Given the description of an element on the screen output the (x, y) to click on. 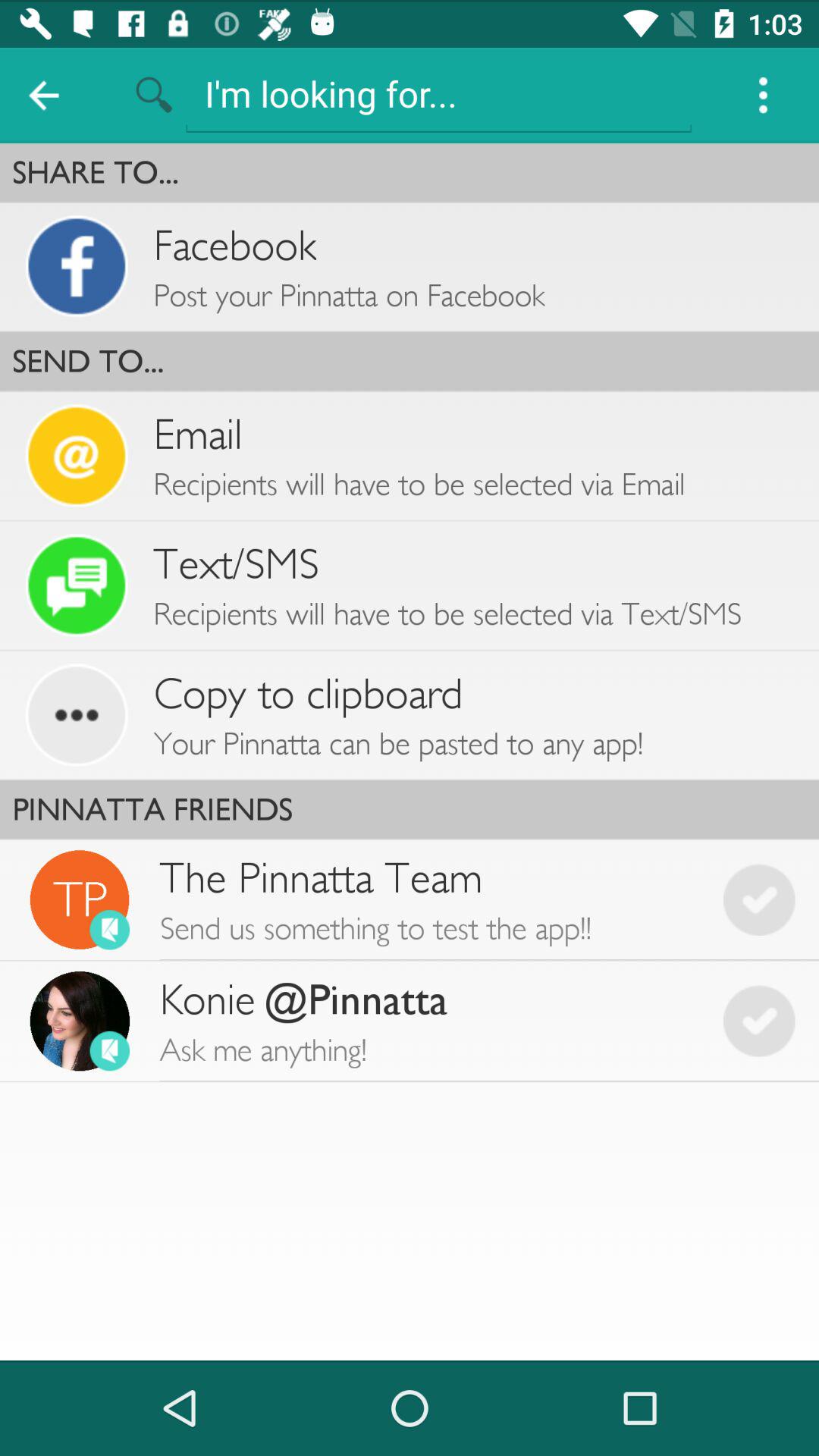
jump until konie pinnatta ask app (429, 1020)
